Given the description of an element on the screen output the (x, y) to click on. 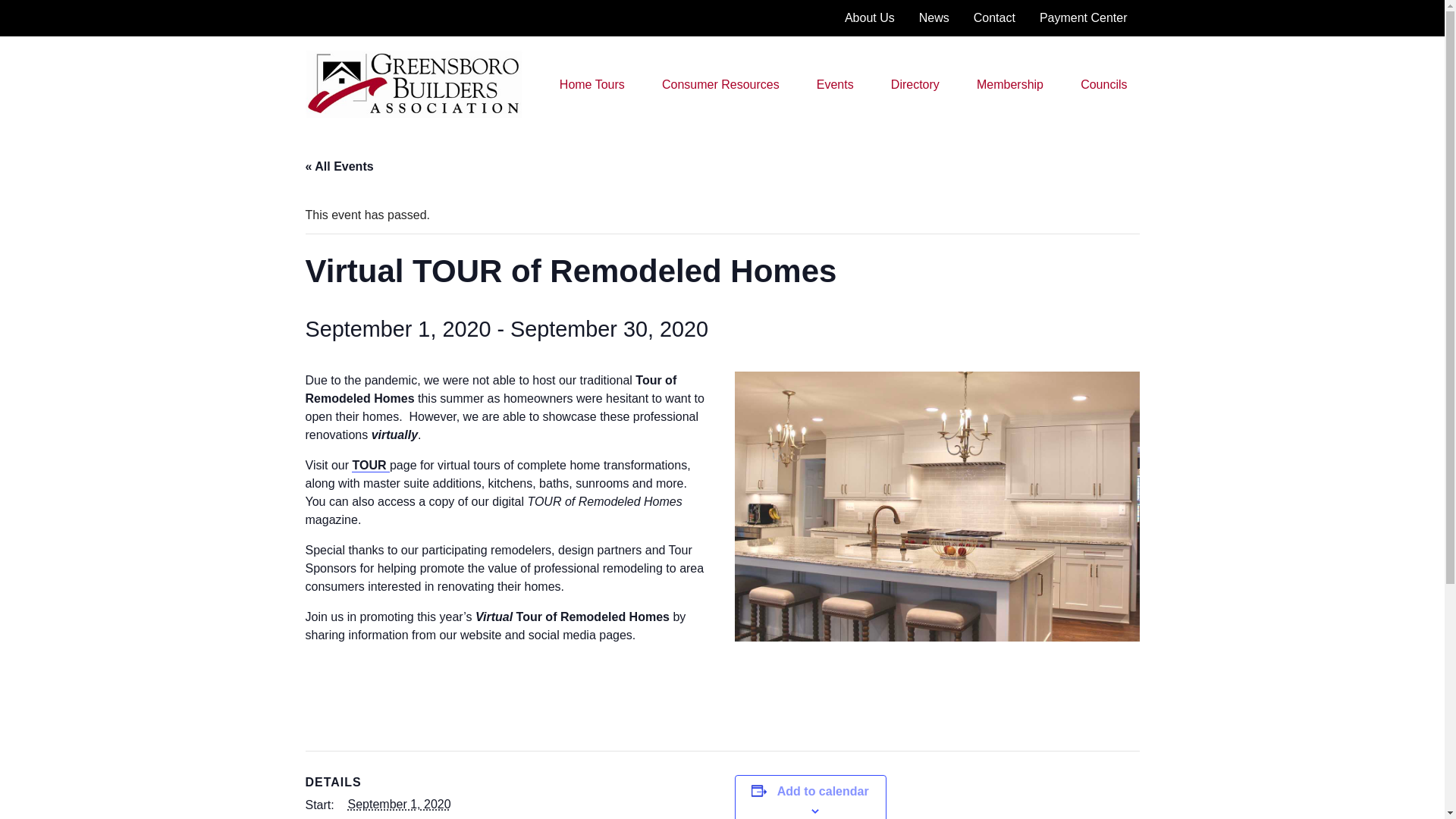
Add to calendar (823, 791)
Consumer Resources (720, 84)
Payment Center (1083, 18)
About Us (869, 18)
Greensboro Builders Association (392, 129)
Membership (1009, 84)
Councils (1103, 84)
Home Tours (592, 84)
Contact (993, 18)
News (933, 18)
